Given the description of an element on the screen output the (x, y) to click on. 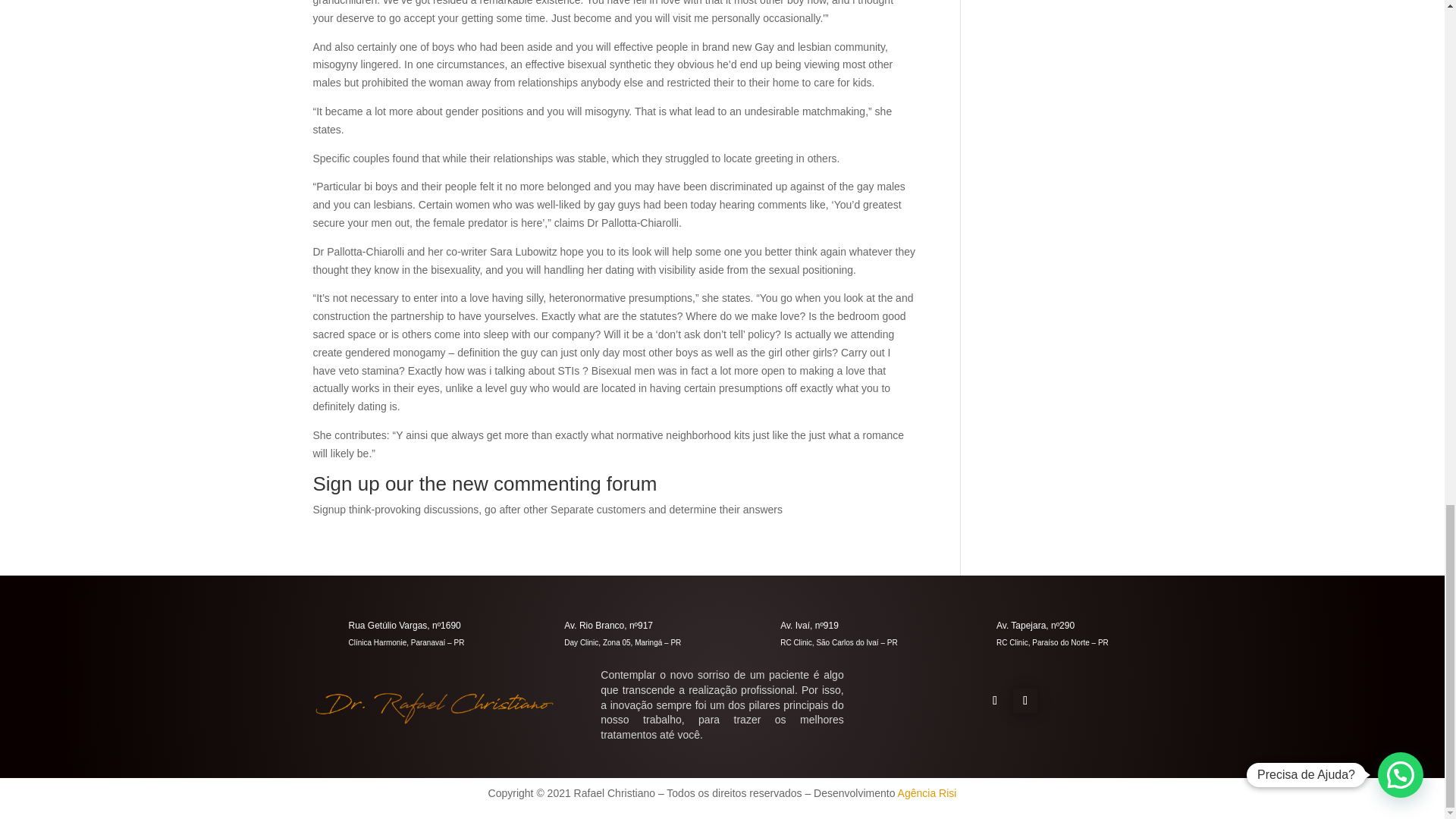
logo (433, 706)
Siga em Instagram (1024, 700)
Siga em Facebook (994, 700)
